Given the description of an element on the screen output the (x, y) to click on. 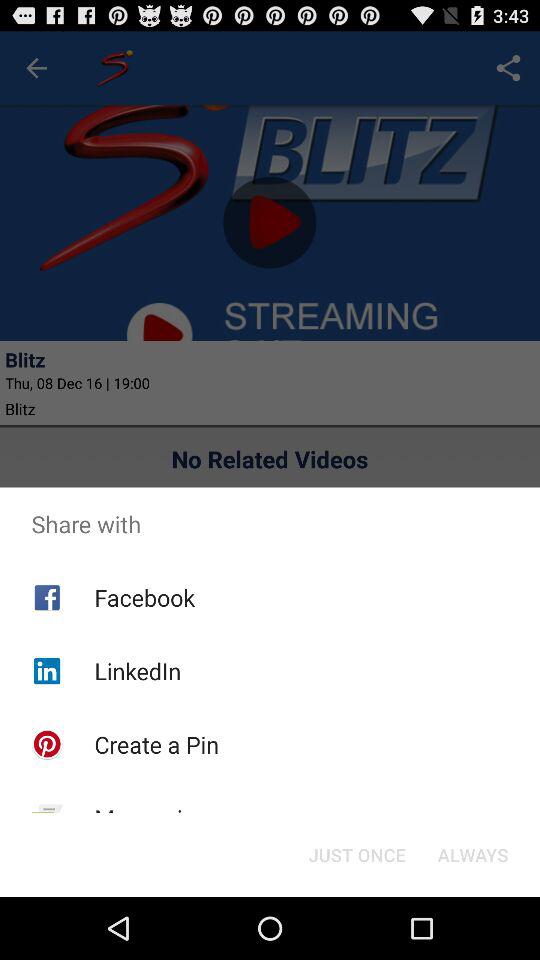
click the item next to just once item (168, 885)
